Given the description of an element on the screen output the (x, y) to click on. 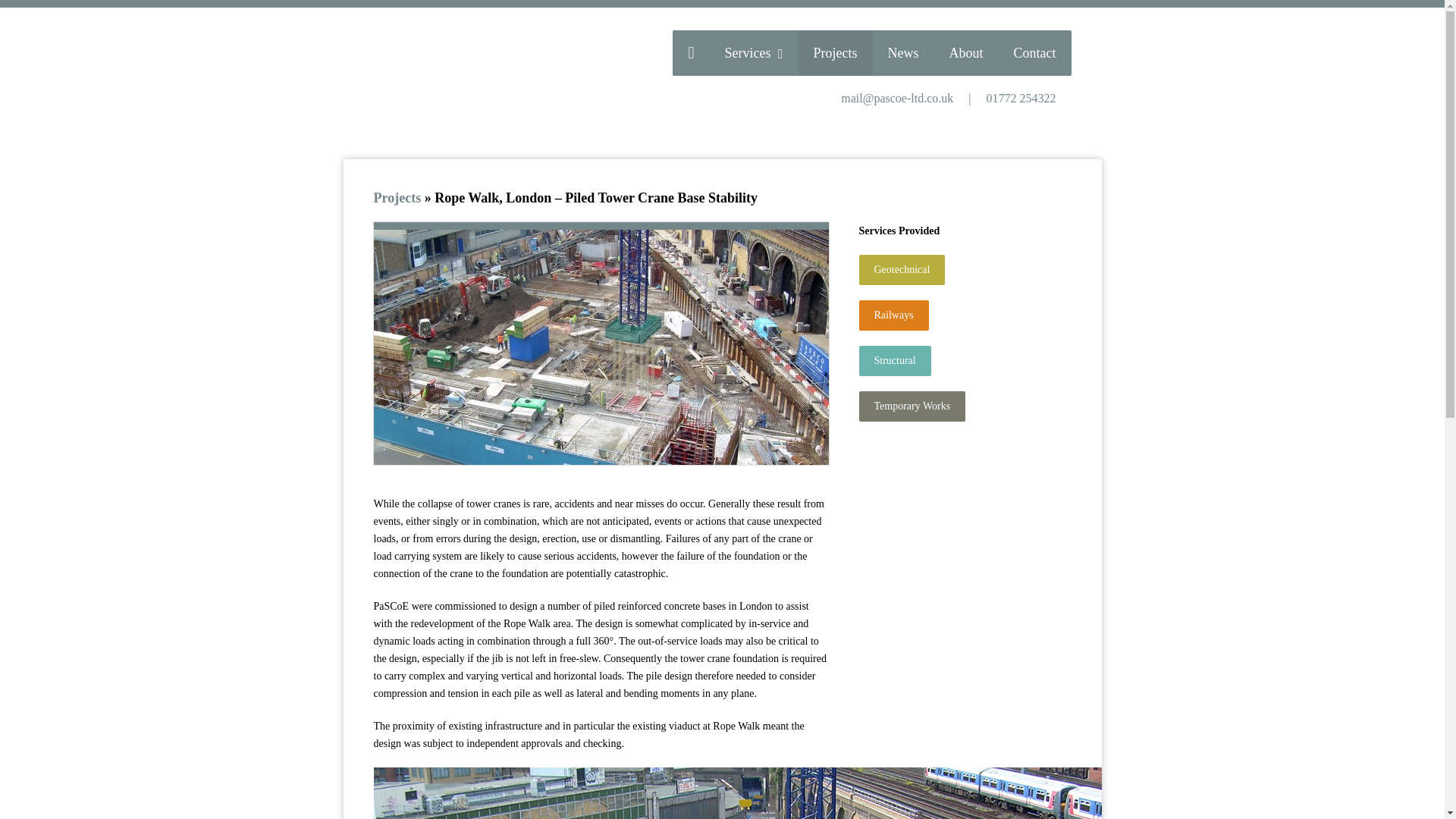
Temporary Works (912, 406)
Find out about our Railways service offerings (893, 315)
Railways (893, 315)
Find out about our Geotechnical service offerings (901, 269)
About (966, 53)
Find out about our Structural service offerings (894, 360)
Contact (1033, 53)
Find out about our Temporary Works service offerings (912, 406)
Projects (397, 197)
News (902, 53)
